Given the description of an element on the screen output the (x, y) to click on. 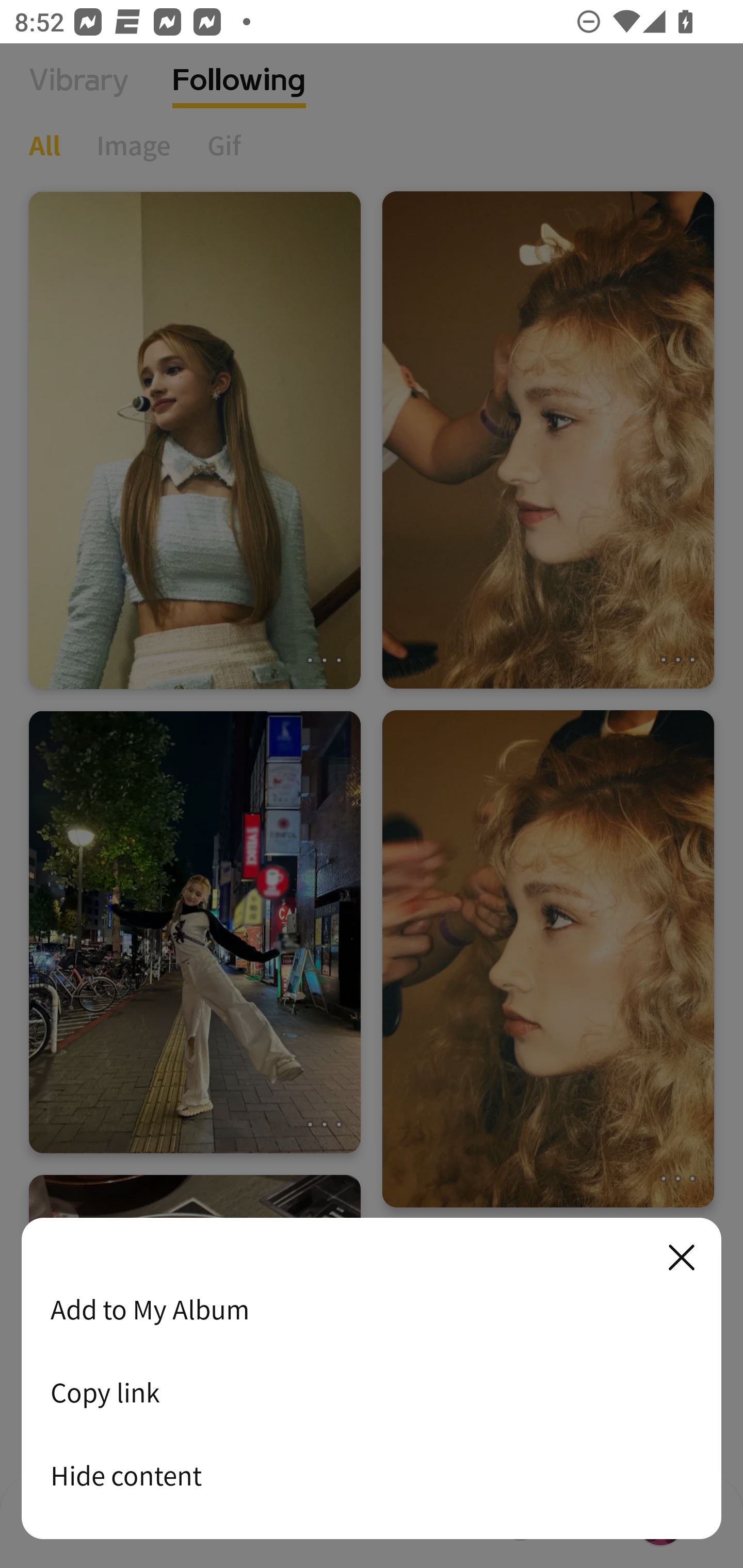
Add to My Album Copy link Hide content (371, 1378)
Add to My Album (371, 1308)
Copy link (371, 1391)
Hide content (371, 1474)
